Given the description of an element on the screen output the (x, y) to click on. 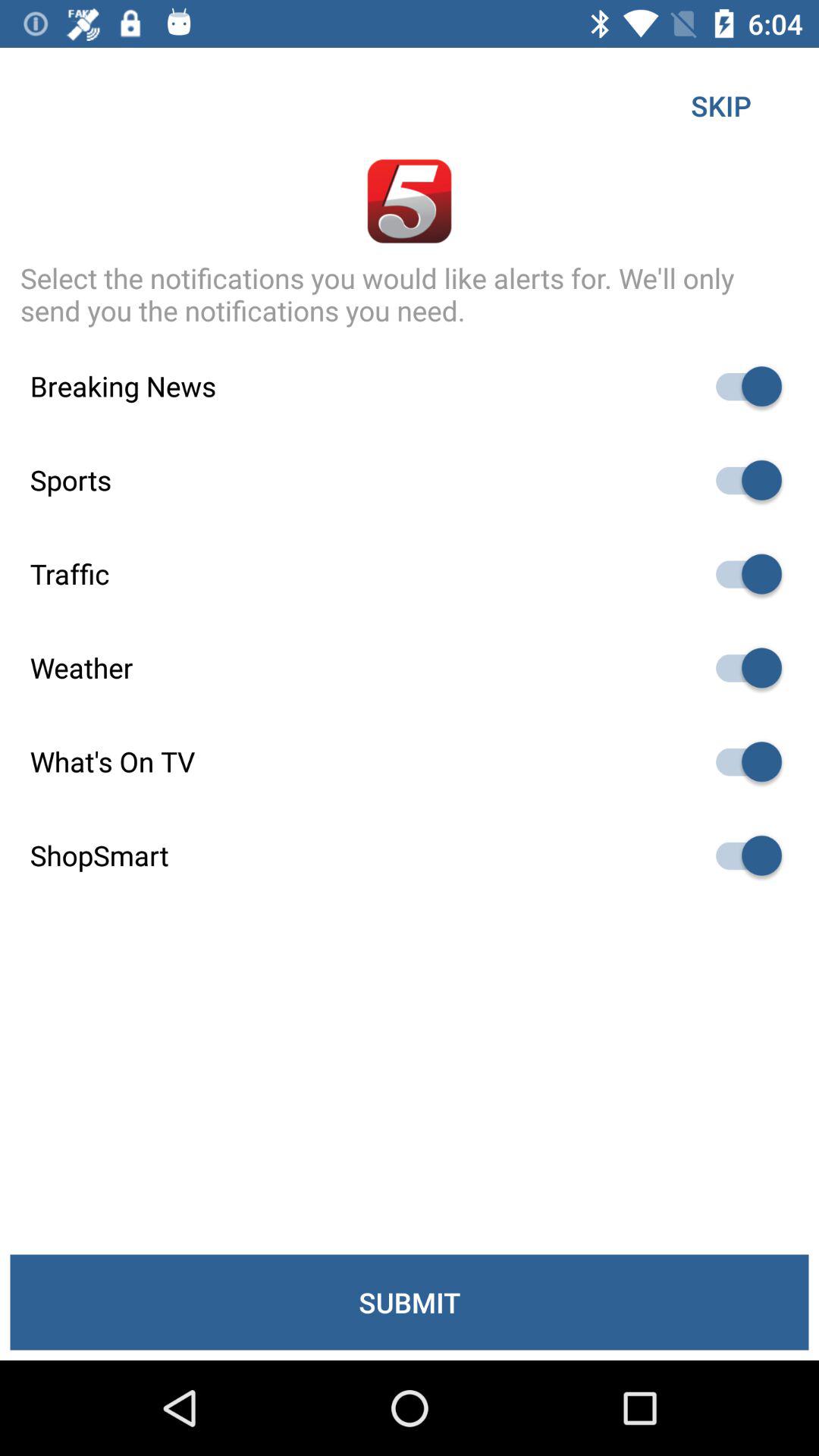
disable traffic (741, 574)
